Given the description of an element on the screen output the (x, y) to click on. 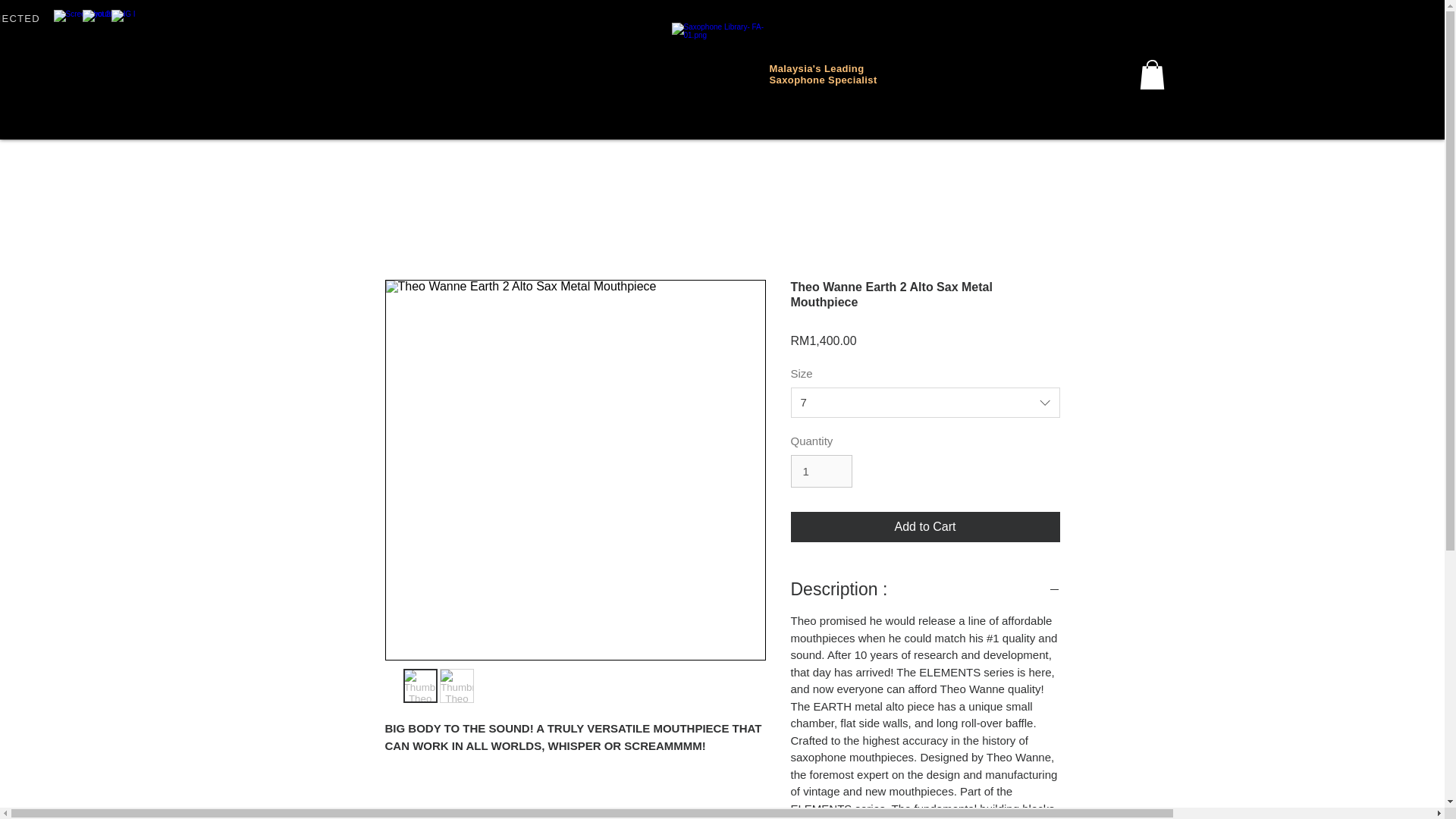
1 (820, 471)
Add to Cart (924, 526)
7 (924, 402)
Description : (924, 588)
